Given the description of an element on the screen output the (x, y) to click on. 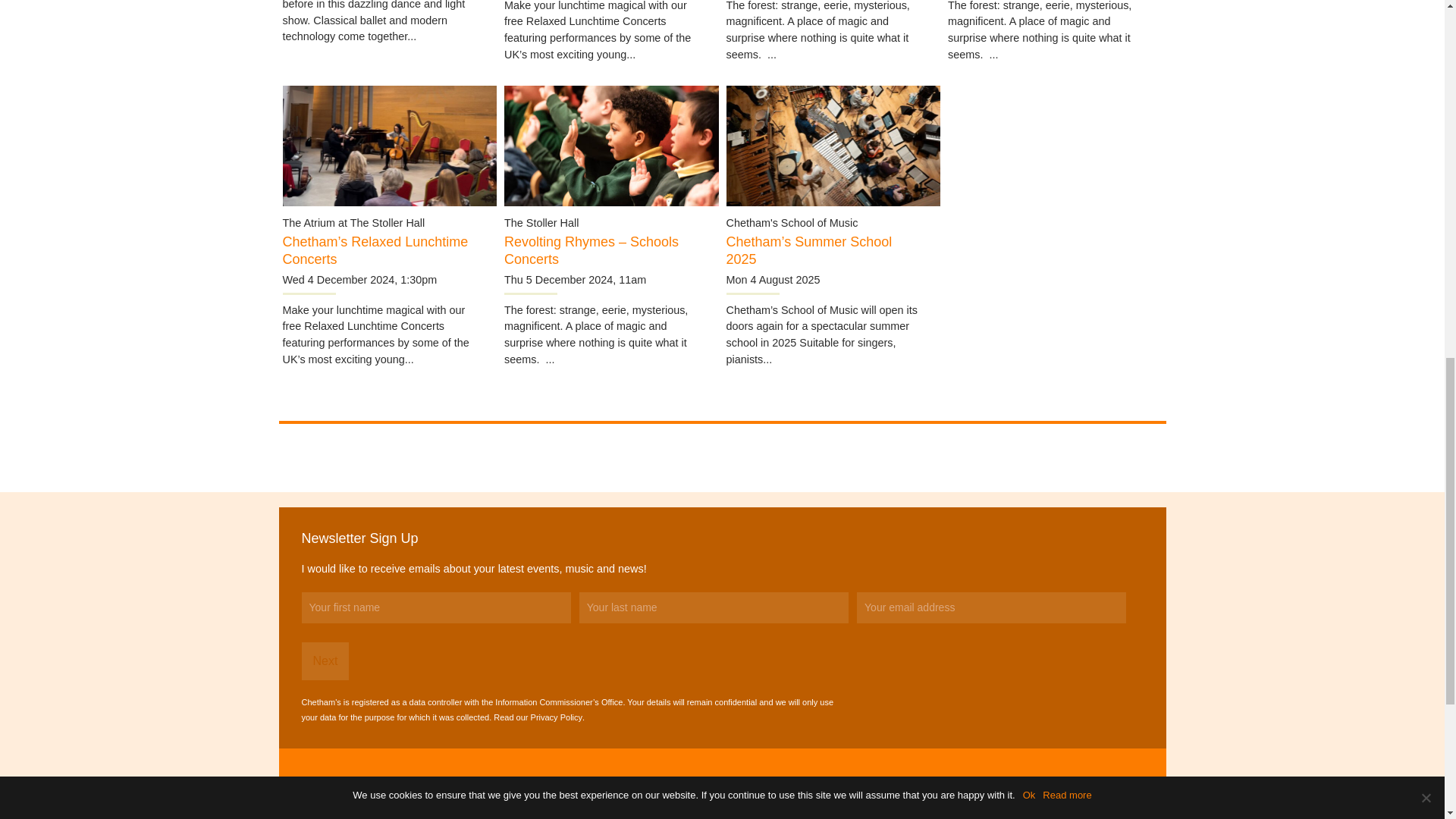
Next (325, 661)
